Given the description of an element on the screen output the (x, y) to click on. 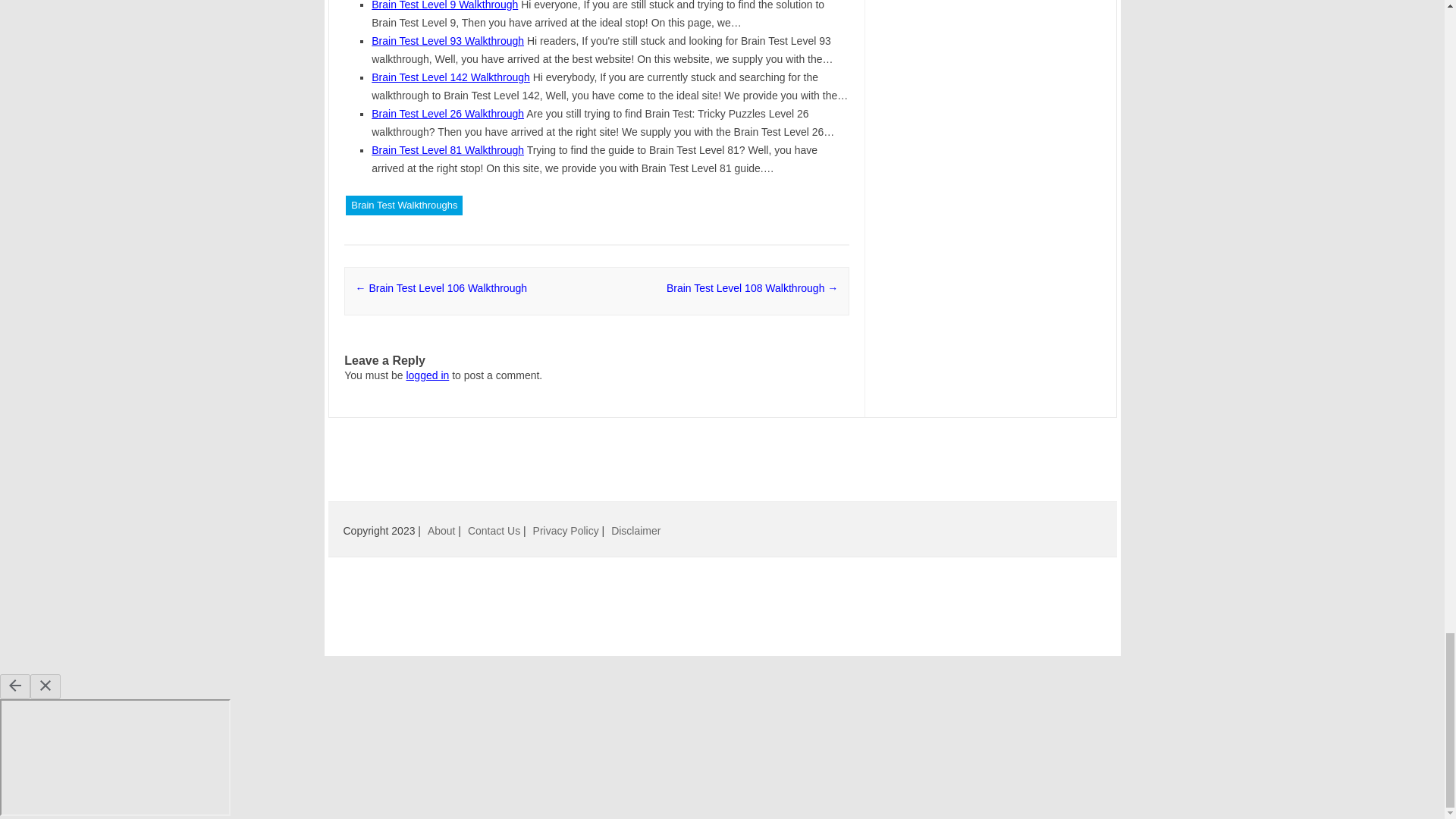
Brain Test Level 9 Walkthrough (444, 5)
